Given the description of an element on the screen output the (x, y) to click on. 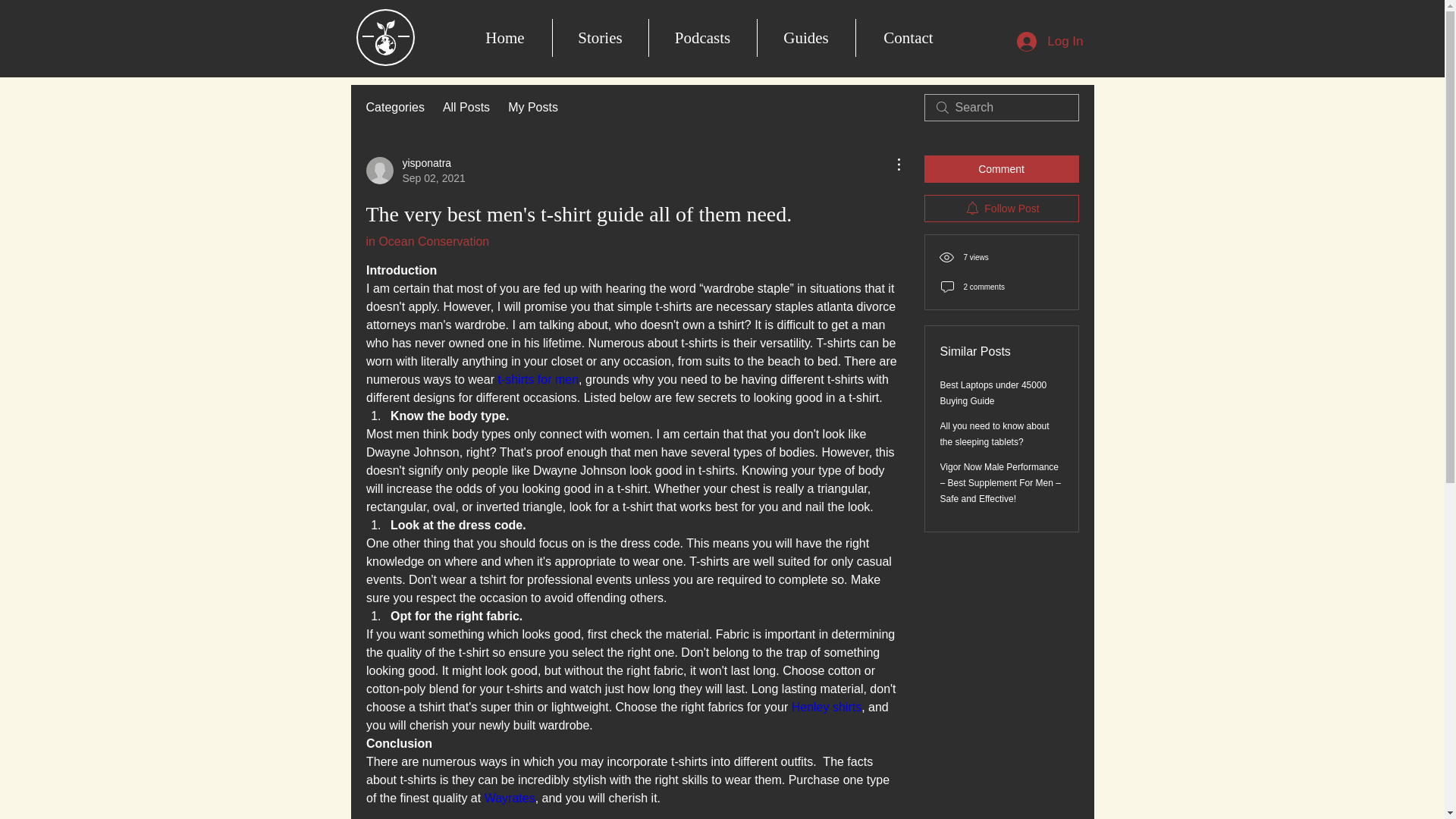
Home (504, 37)
All Posts (465, 107)
in Ocean Conservation (427, 241)
Podcasts (414, 170)
Stories (701, 37)
Guides (599, 37)
Henley shirts (806, 37)
Wayrates (825, 707)
Follow Post (508, 797)
My Posts (1000, 207)
Log In (532, 107)
Best Laptops under 45000 Buying Guide (1049, 41)
Contact (993, 393)
Comment (908, 37)
